Given the description of an element on the screen output the (x, y) to click on. 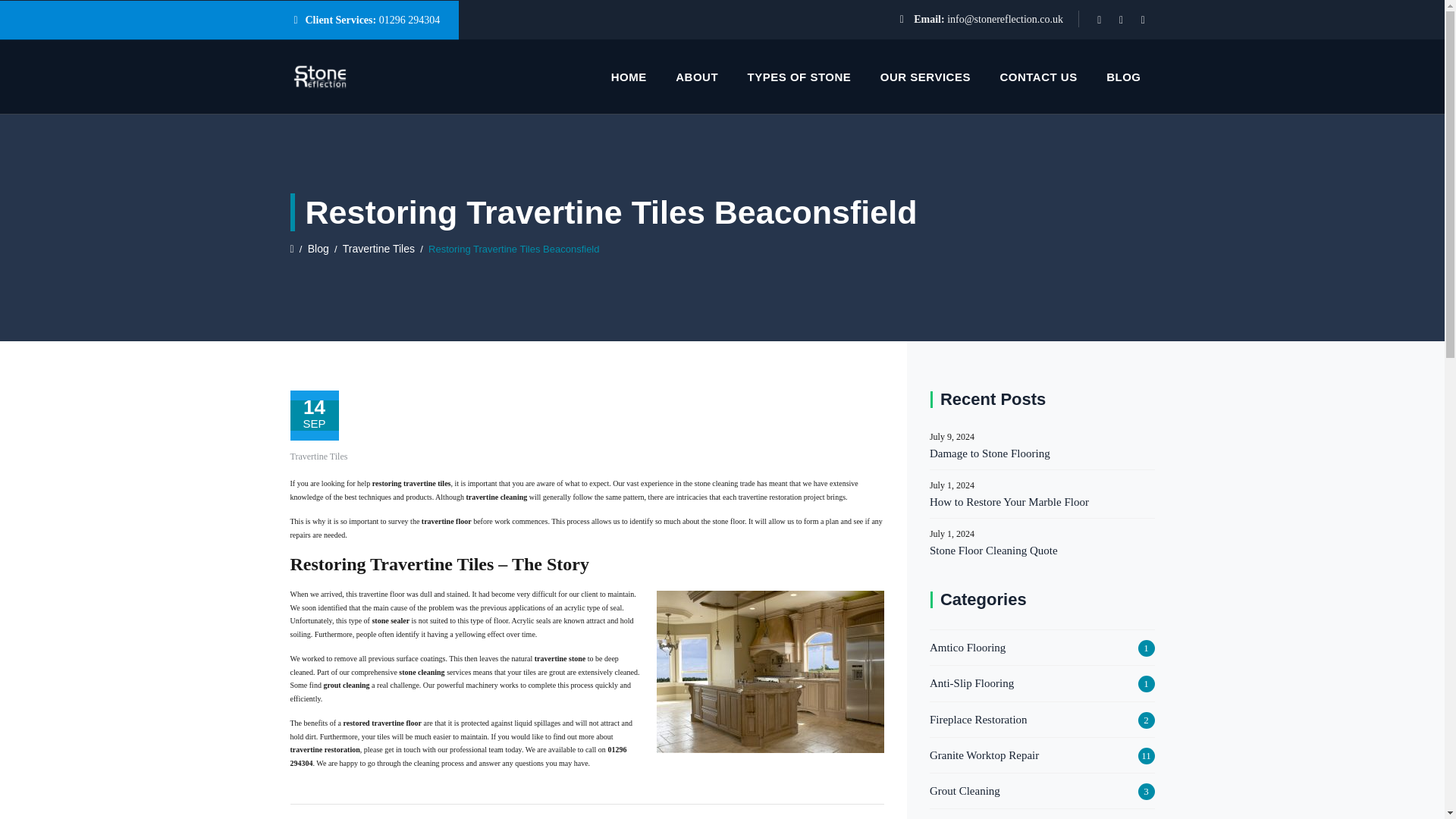
ABOUT (697, 76)
How to Restore Your Marble Floor (1042, 501)
OUR SERVICES (925, 76)
Travertine Tiles (378, 248)
Go to Blog. (318, 248)
Stone Floor Cleaning Quote (1042, 550)
Amtico Flooring (968, 647)
CONTACT US (1037, 76)
Fireplace Restoration (978, 719)
Limestone Tiles (966, 817)
